Given the description of an element on the screen output the (x, y) to click on. 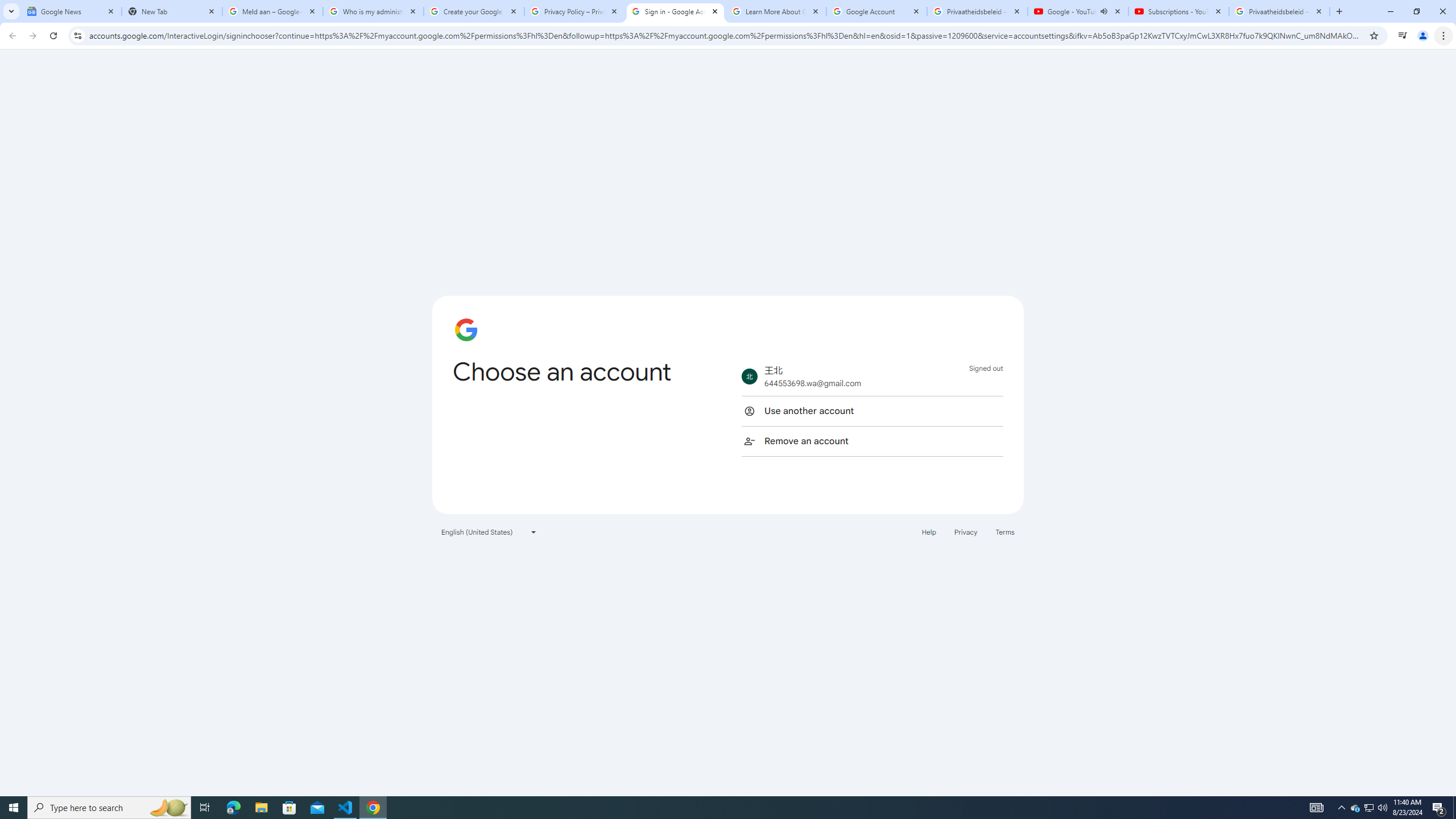
Create your Google Account (474, 11)
Terms (1005, 531)
Sign in - Google Accounts (675, 11)
Help (928, 531)
Mute tab (1103, 10)
